Given the description of an element on the screen output the (x, y) to click on. 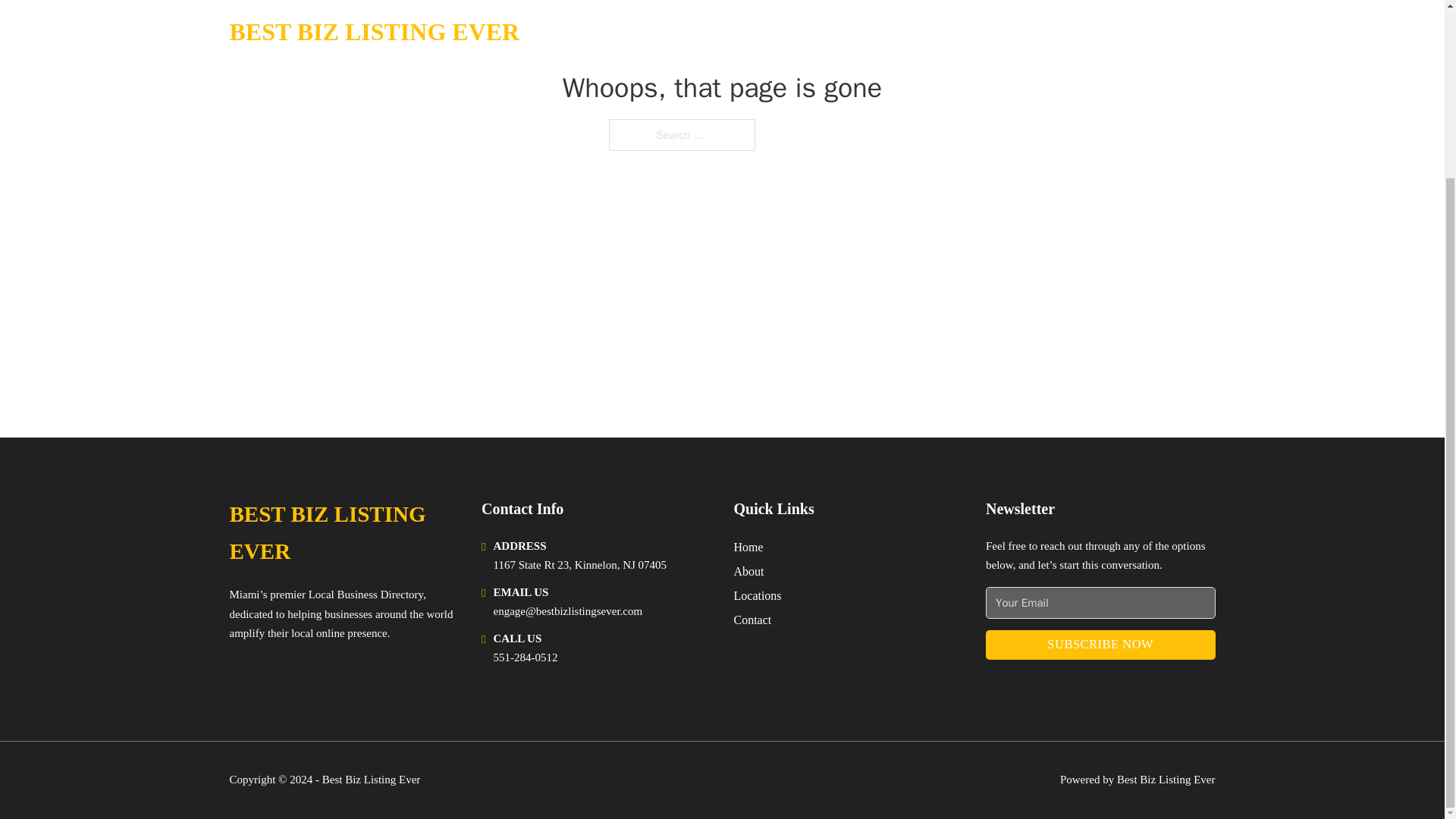
551-284-0512 (525, 657)
Locations (757, 595)
Contact (752, 619)
Home (747, 547)
BEST BIZ LISTING EVER (343, 533)
About (748, 571)
SUBSCRIBE NOW (1100, 644)
